Given the description of an element on the screen output the (x, y) to click on. 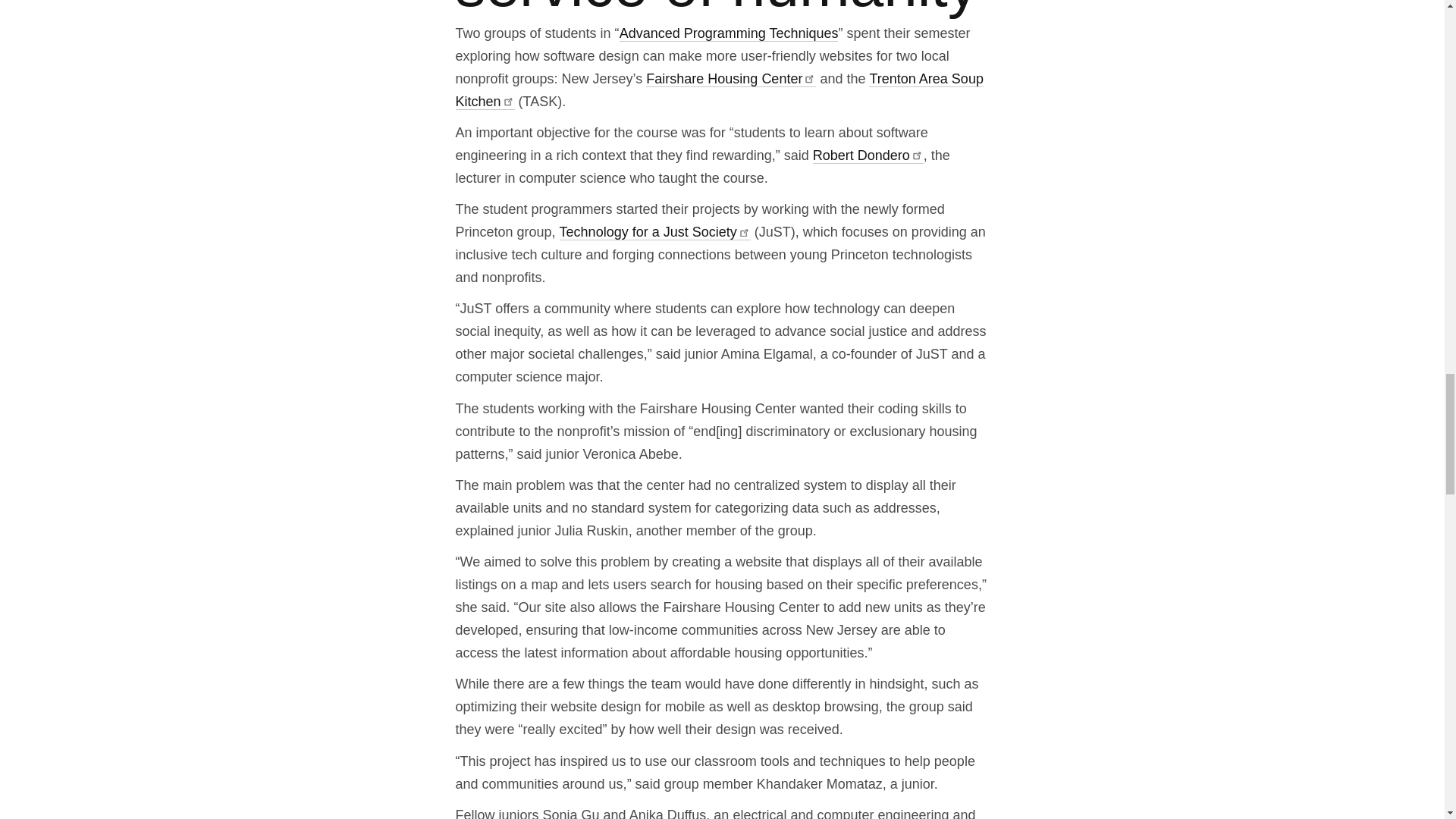
Advanced Programming Techniques (729, 33)
Technology for a Just Society (655, 232)
Trenton Area Soup Kitchen (718, 90)
Fairshare Housing Center (730, 78)
Robert Dondero (867, 155)
